Given the description of an element on the screen output the (x, y) to click on. 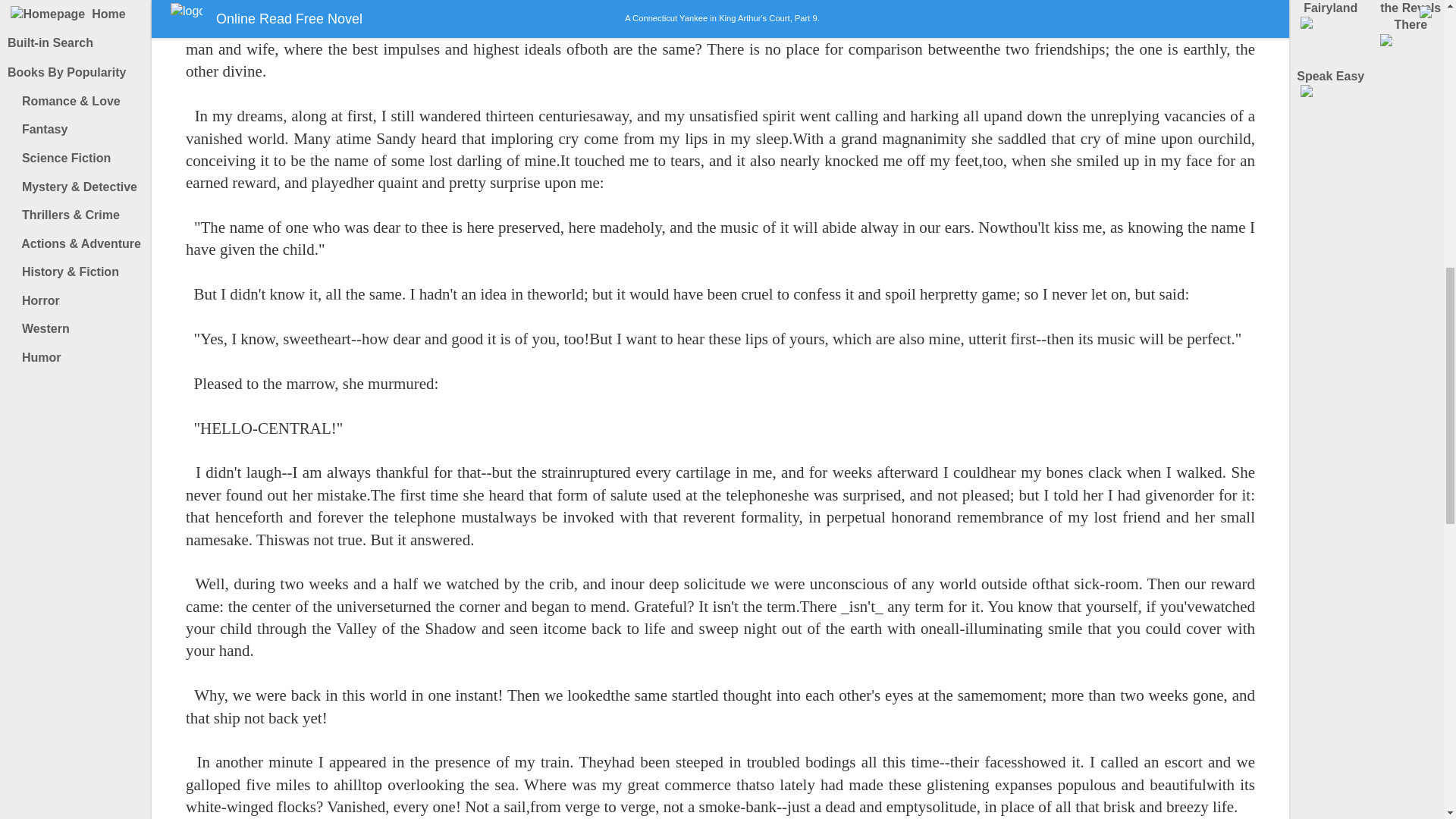
The Boy Who Lost Fairyland (1331, 24)
The Boy Who Lost Fairyland (1331, 24)
